Given the description of an element on the screen output the (x, y) to click on. 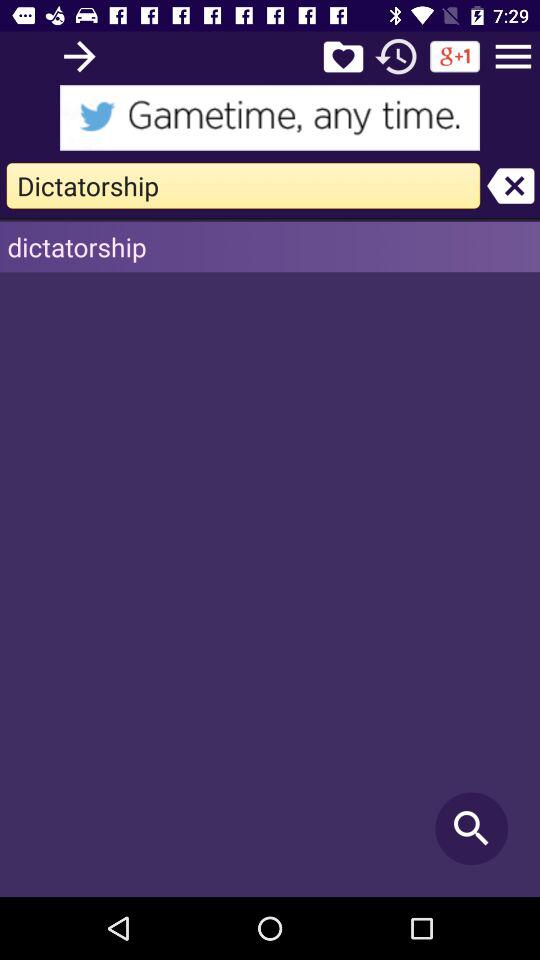
menu (513, 56)
